Given the description of an element on the screen output the (x, y) to click on. 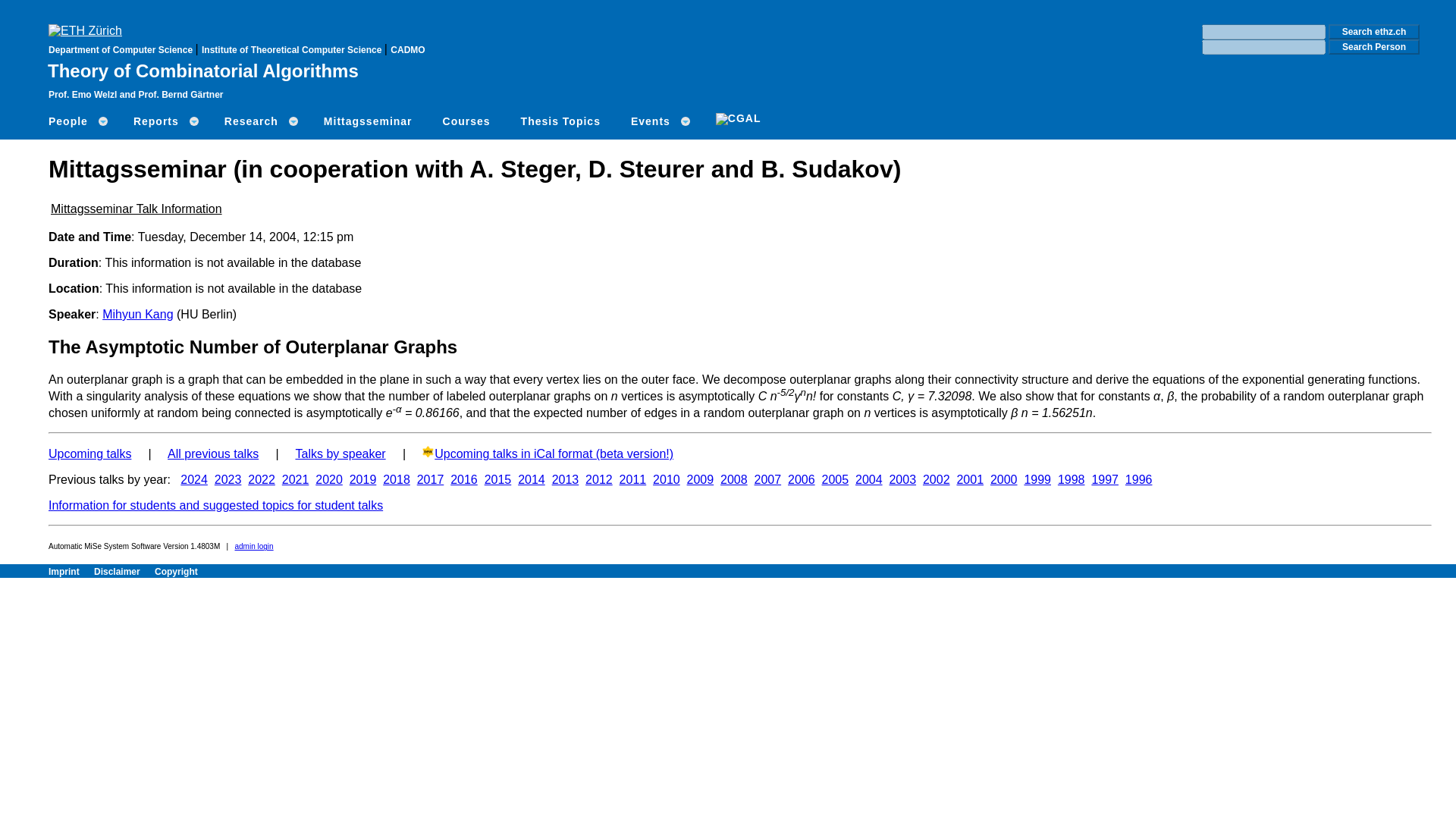
Courses (466, 121)
2023 (227, 479)
2024 (194, 479)
All previous talks (213, 453)
Search Person (1373, 46)
Institute of Theoretical Computer Science (293, 50)
Research (258, 121)
Reports (163, 121)
Search ethz.ch (1373, 31)
People (75, 121)
Theory of Combinatorial Algorithms (203, 70)
CADMO (407, 50)
Events (657, 121)
Department of Computer Science (121, 50)
Mittagsseminar (368, 121)
